Given the description of an element on the screen output the (x, y) to click on. 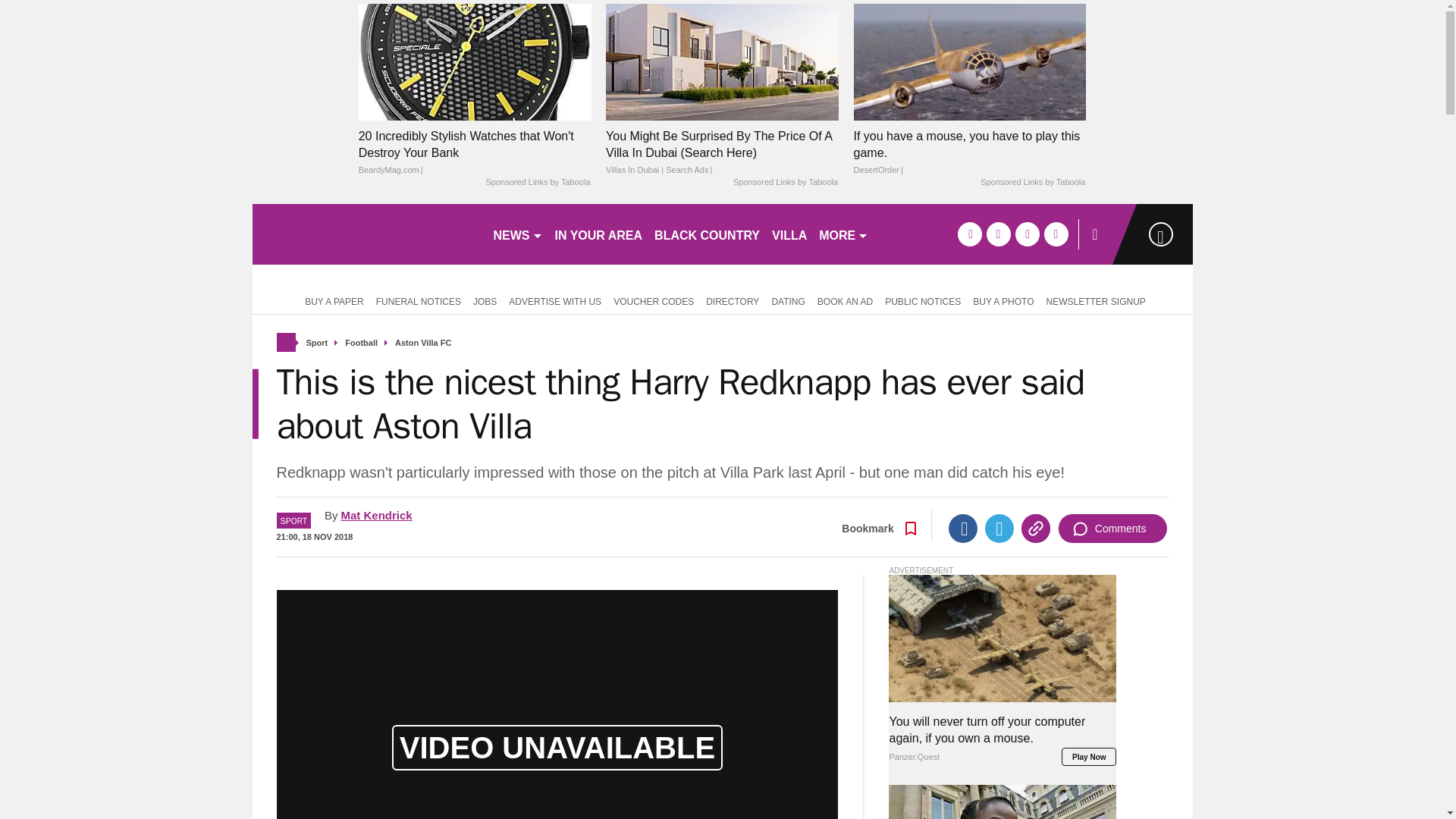
BLACK COUNTRY (706, 233)
Sponsored Links by Taboola (1031, 182)
facebook (968, 233)
birminghammail (365, 233)
Sponsored Links by Taboola (536, 182)
20 Incredibly Stylish Watches that Won't Destroy Your Bank (474, 152)
NEWS (517, 233)
20 Incredibly Stylish Watches that Won't Destroy Your Bank (474, 61)
instagram (1055, 233)
IN YOUR AREA (598, 233)
MORE (843, 233)
Sponsored Links by Taboola (785, 182)
Facebook (962, 528)
Twitter (999, 528)
twitter (997, 233)
